Given the description of an element on the screen output the (x, y) to click on. 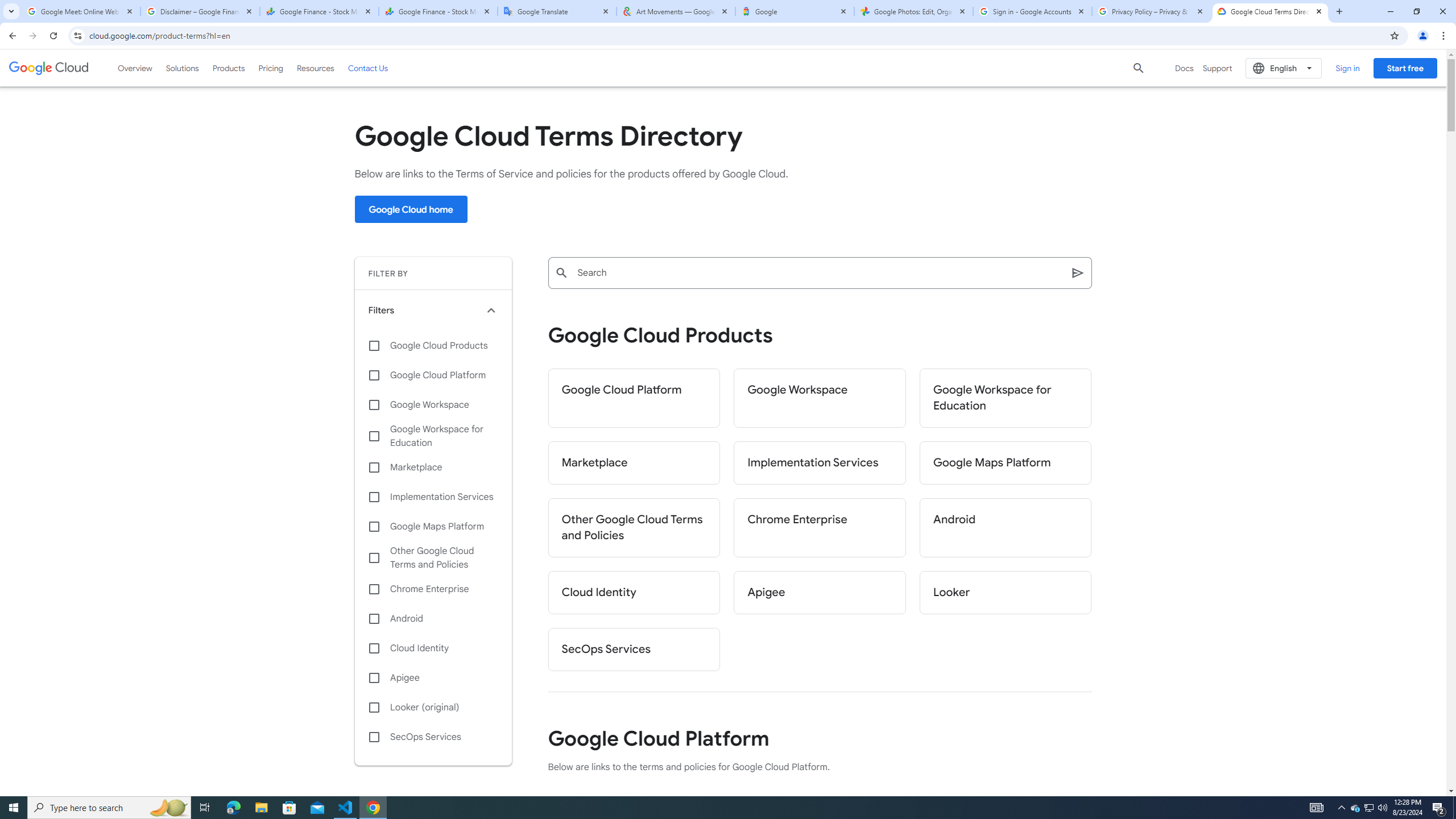
Google Workspace for Education (432, 435)
Looker (original) (432, 707)
Other Google Cloud Terms and Policies (633, 527)
Google Maps Platform (1005, 462)
Android (1005, 527)
Marketplace (633, 462)
Start free (1405, 67)
Cloud Identity (432, 648)
Google Cloud Platform (432, 374)
Google Cloud (48, 67)
Sign in - Google Accounts (1032, 11)
